Given the description of an element on the screen output the (x, y) to click on. 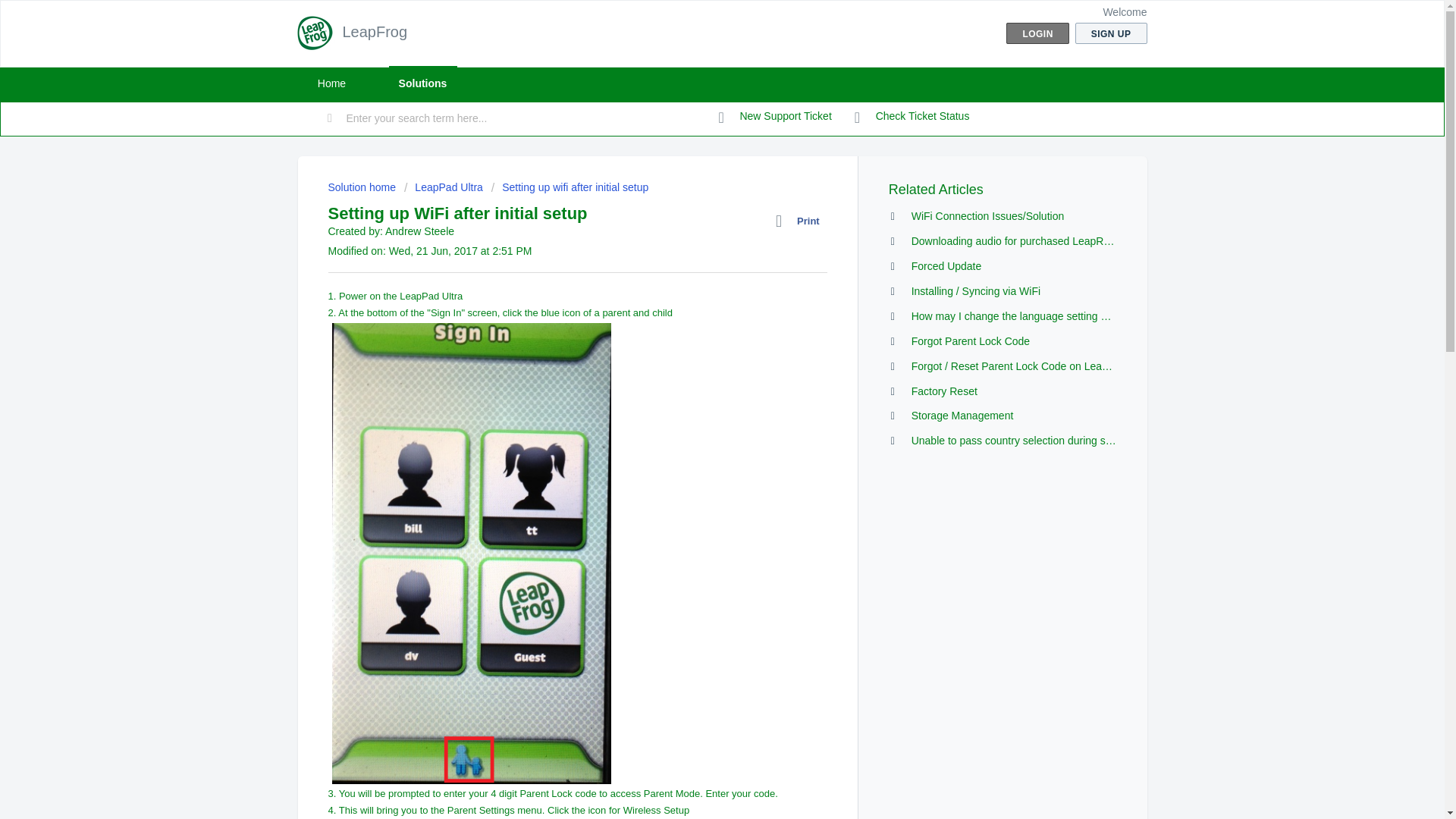
Downloading audio for purchased LeapReader books (1036, 241)
Forced Update (946, 265)
Home (331, 83)
Check ticket status (911, 116)
New support ticket (775, 116)
Solution home (362, 186)
SIGN UP (1111, 33)
Check Ticket Status (911, 116)
Storage Management (962, 415)
